Given the description of an element on the screen output the (x, y) to click on. 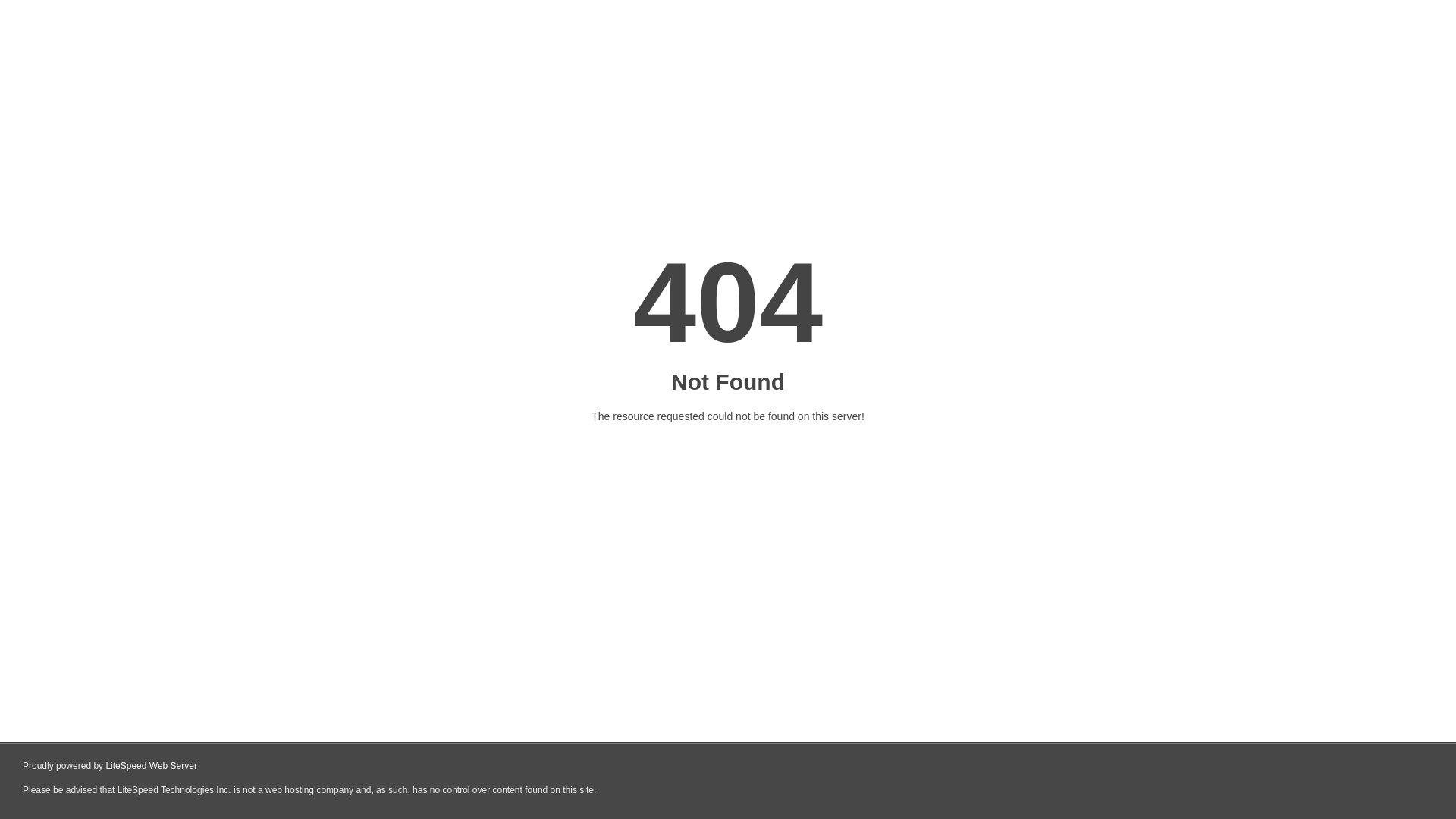
LiteSpeed Web Server Element type: text (151, 765)
